Given the description of an element on the screen output the (x, y) to click on. 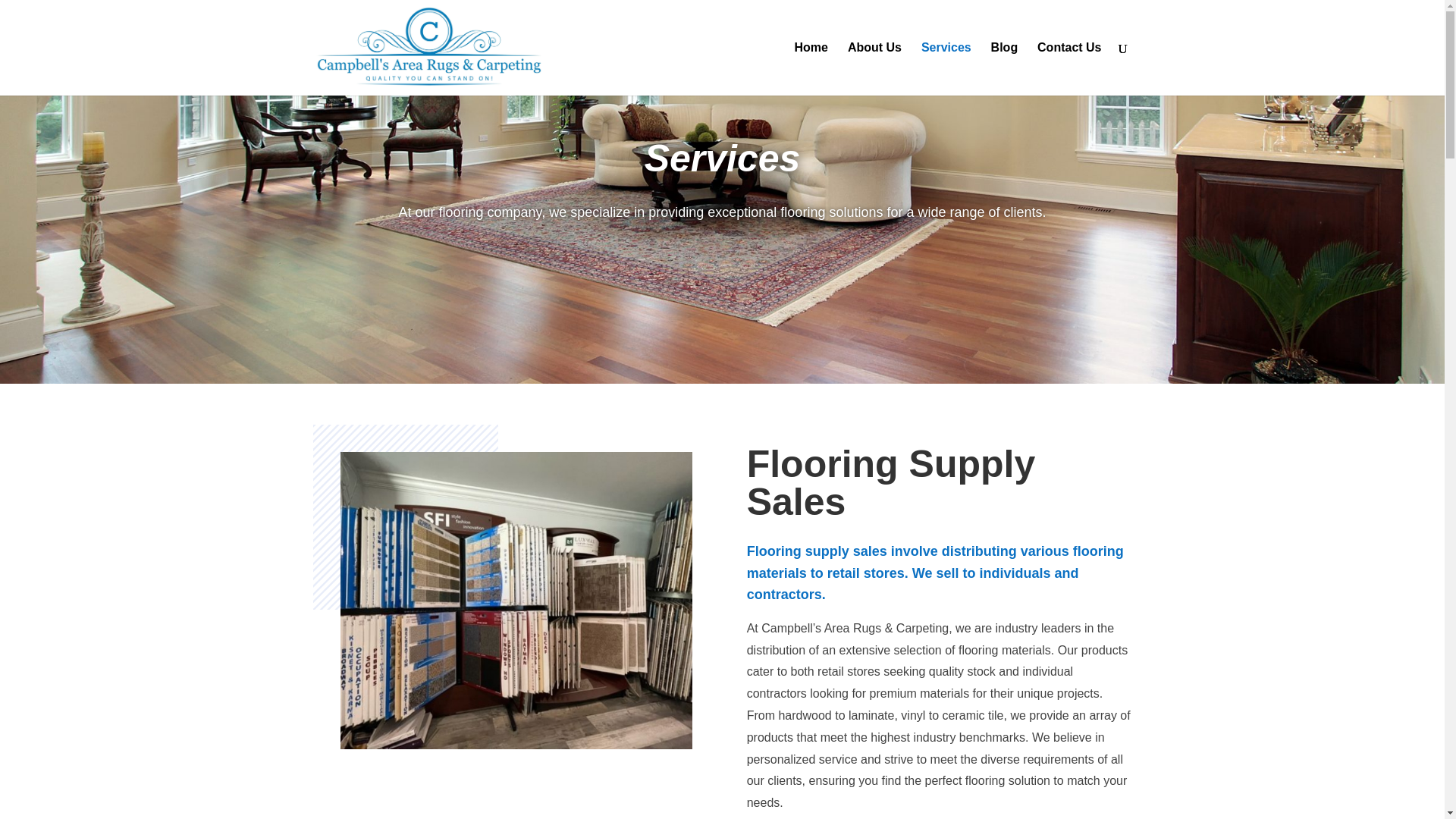
About Us (874, 68)
Services (946, 68)
Contact Us (1068, 68)
